Given the description of an element on the screen output the (x, y) to click on. 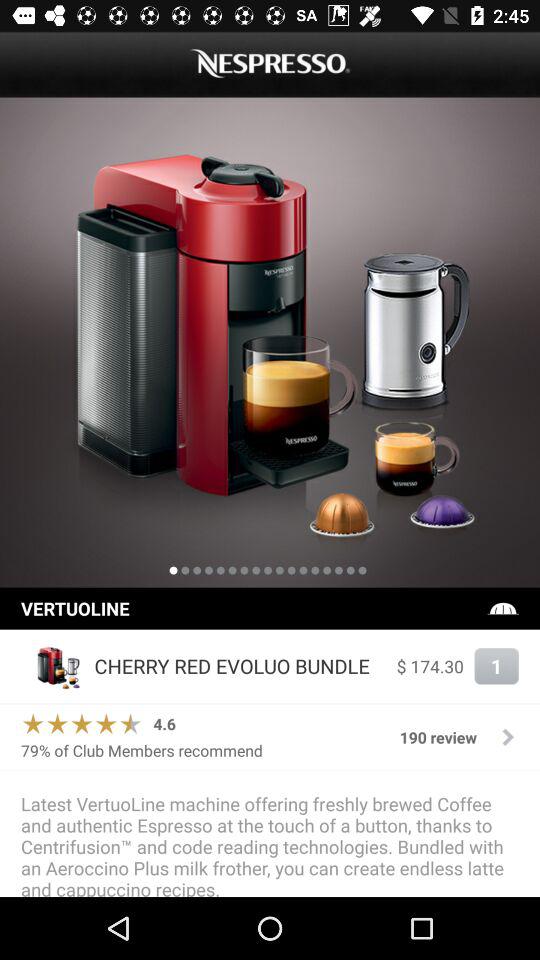
press icon to the left of $ 174.30 icon (240, 665)
